Given the description of an element on the screen output the (x, y) to click on. 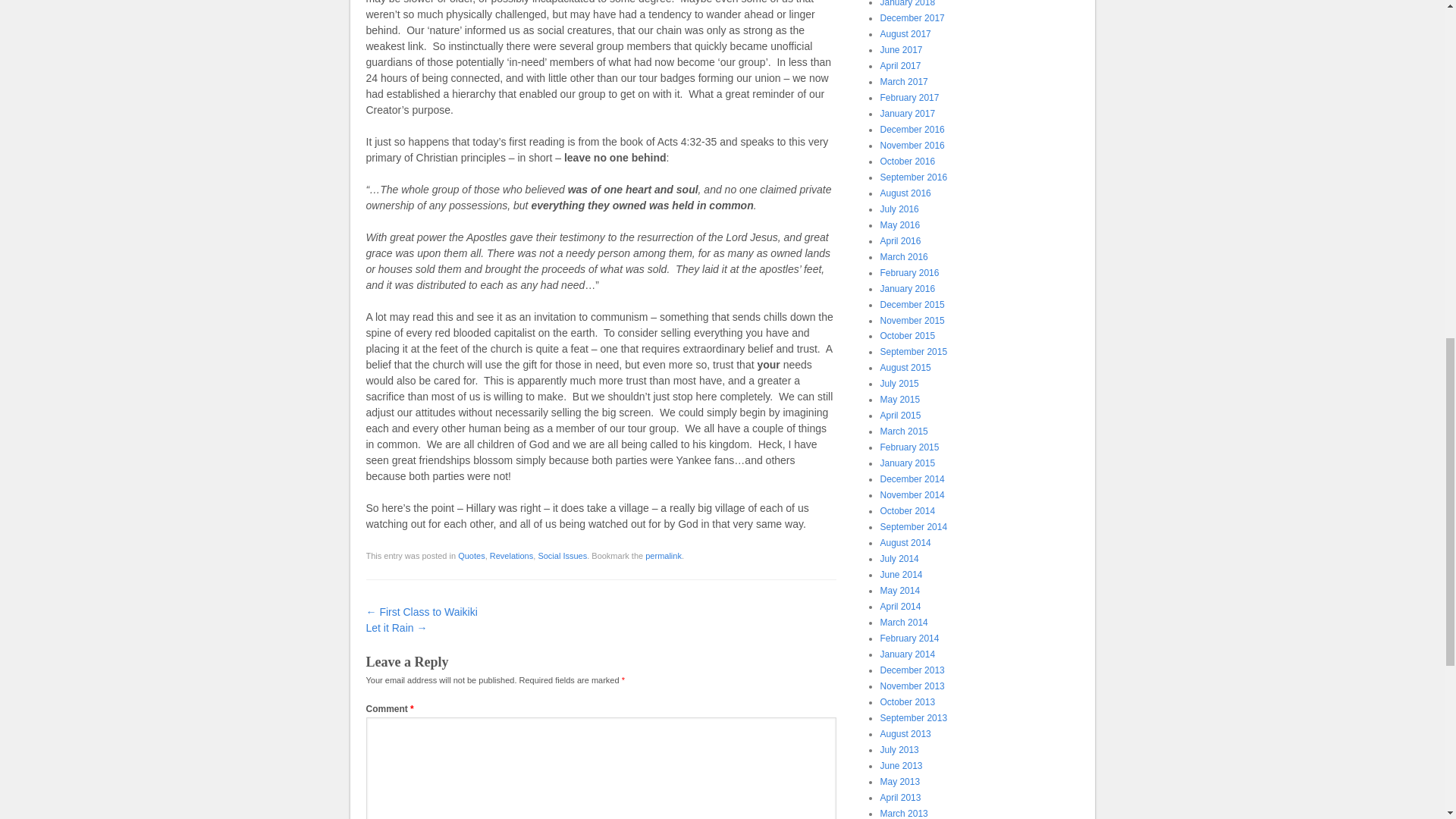
Social Issues (561, 555)
Quotes (471, 555)
Revelations (510, 555)
Permalink to One Big Tour Group (663, 555)
permalink (663, 555)
